Given the description of an element on the screen output the (x, y) to click on. 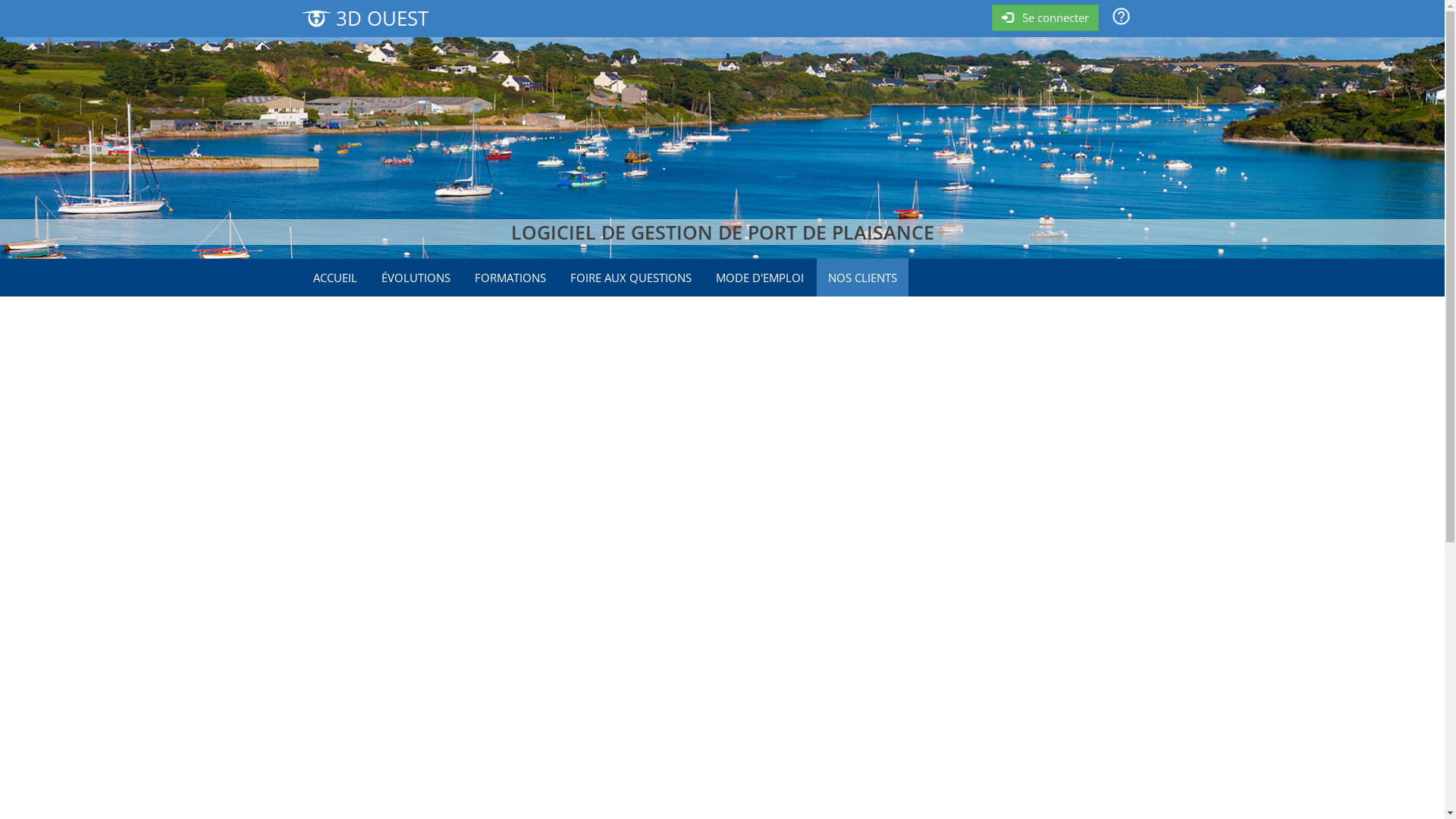
MODE D'EMPLOI Element type: text (758, 277)
FORMATIONS Element type: text (509, 277)
ACCUEIL Element type: text (334, 277)
FOIRE AUX QUESTIONS Element type: text (630, 277)
   Se connecter Element type: text (1044, 17)
NOS CLIENTS Element type: text (861, 277)
